Given the description of an element on the screen output the (x, y) to click on. 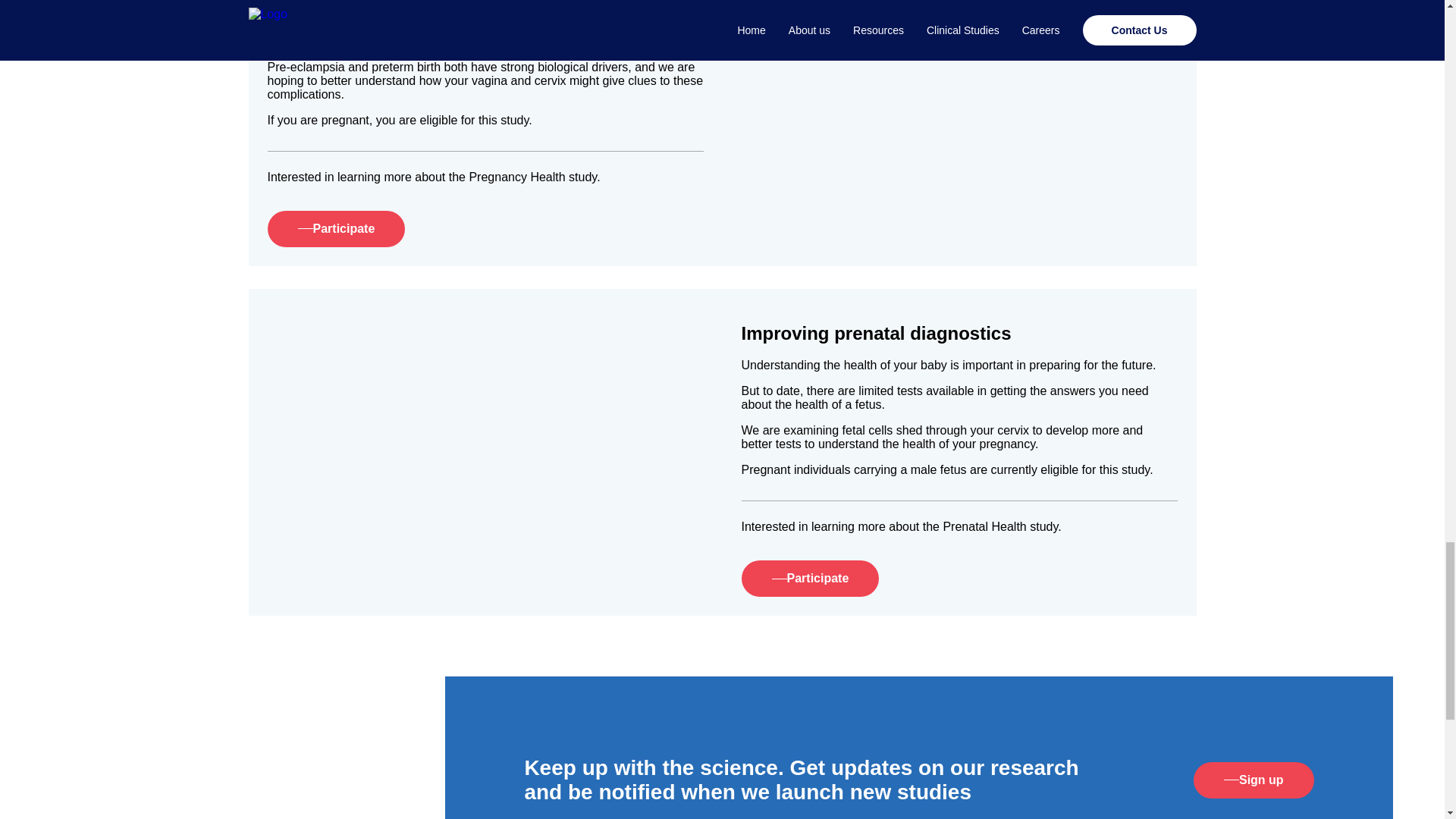
Participate (810, 578)
Participate (335, 228)
Sign up (1214, 779)
Sign up (1253, 780)
